Given the description of an element on the screen output the (x, y) to click on. 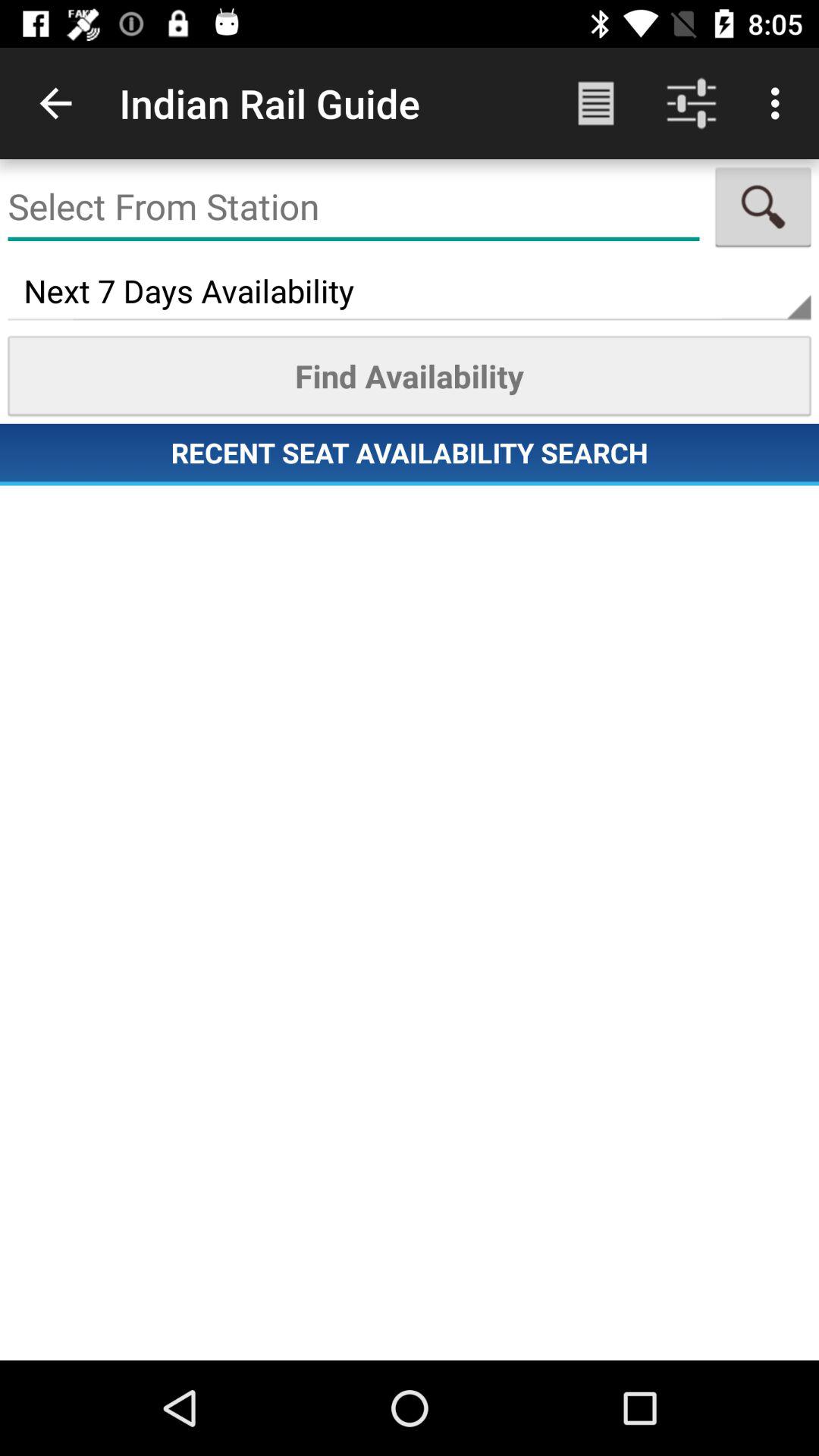
search station (353, 206)
